Given the description of an element on the screen output the (x, y) to click on. 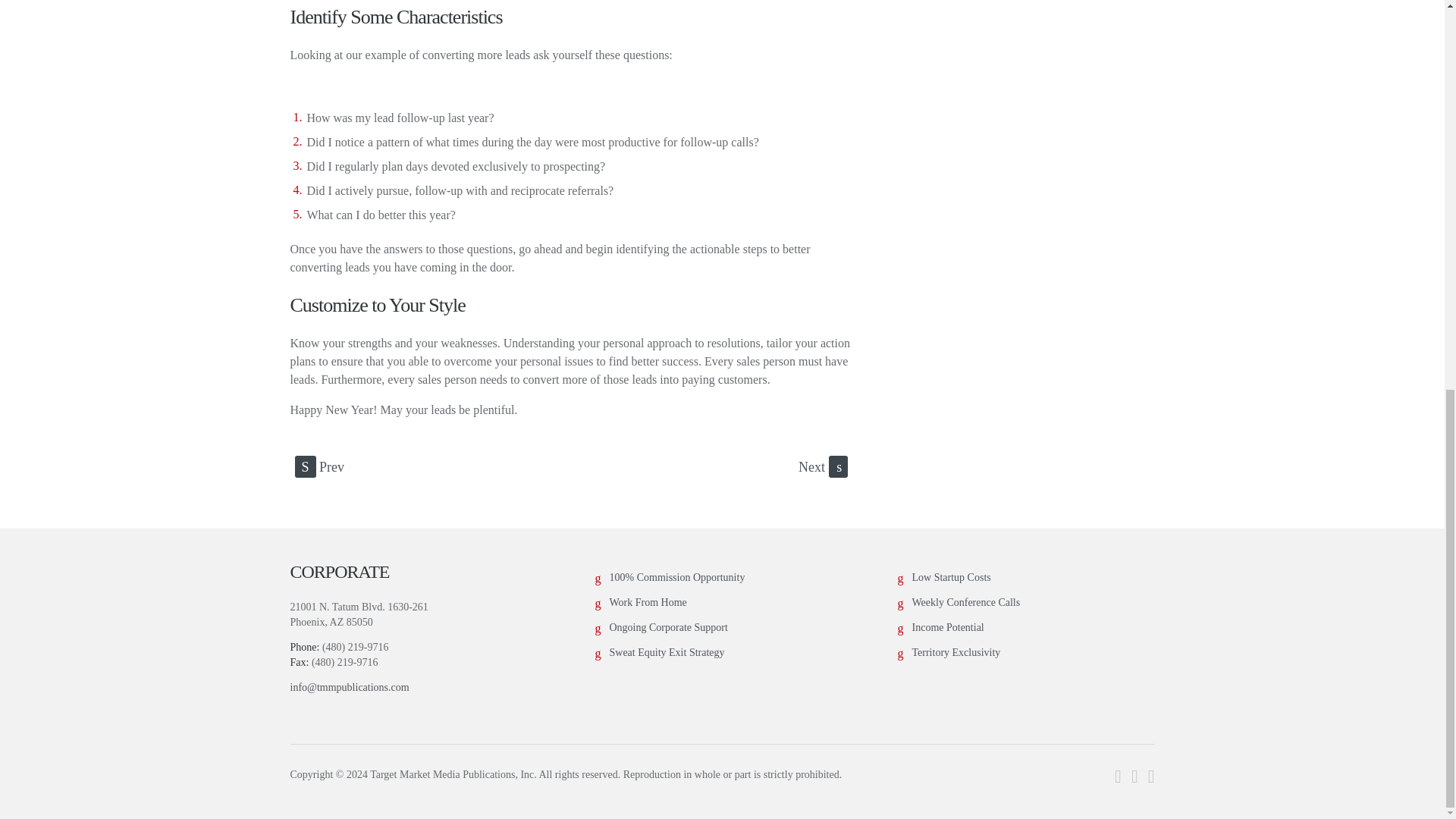
Territory Exclusivity (955, 652)
Ongoing Corporate Support (669, 627)
S Prev (318, 466)
Work From Home (648, 602)
Income Potential (947, 627)
Sweat Equity Exit Strategy (667, 652)
Weekly Conference Calls (965, 602)
Low Startup Costs (950, 577)
Next s (822, 466)
